Given the description of an element on the screen output the (x, y) to click on. 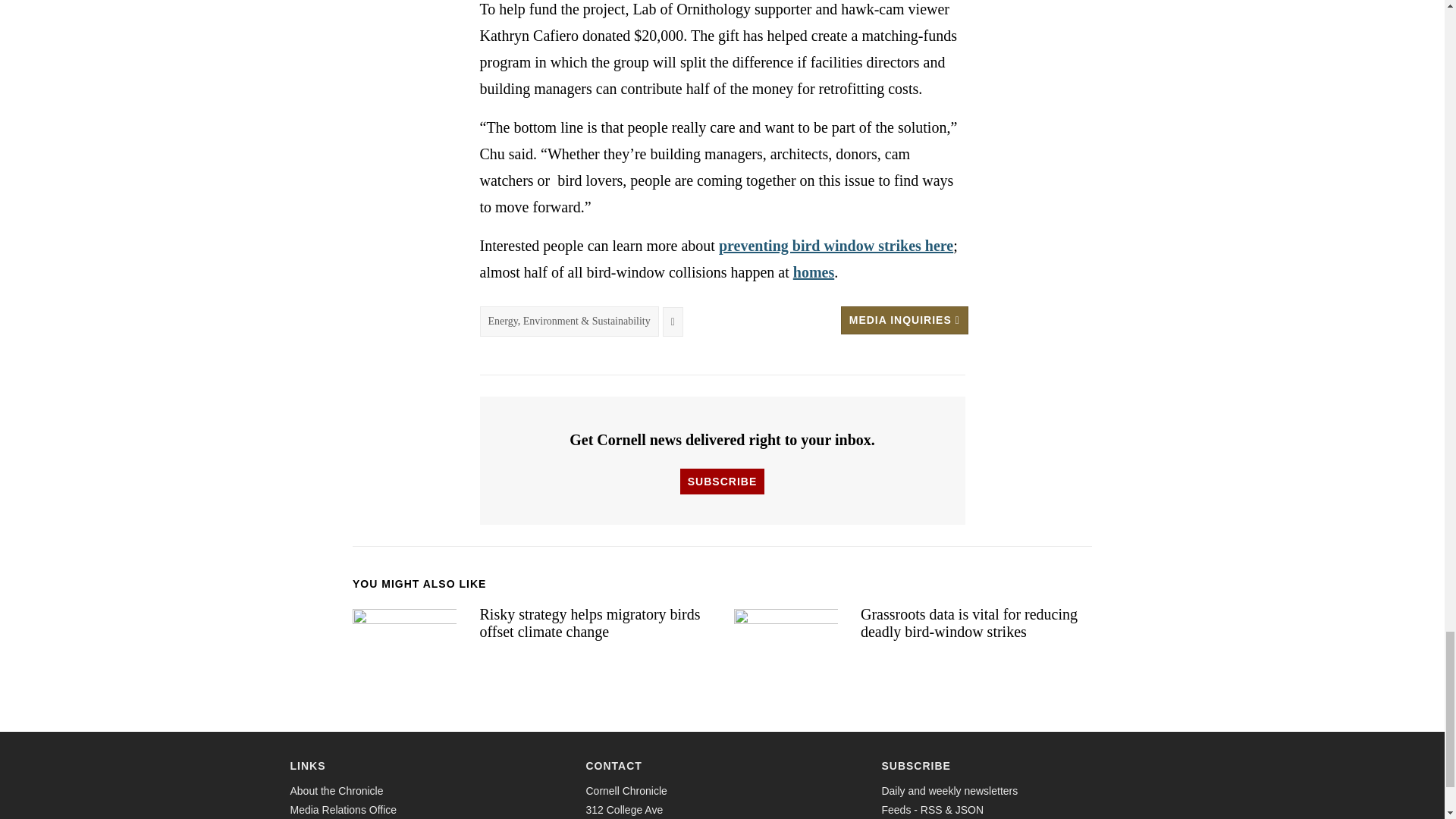
Risky strategy helps migratory birds offset climate change (404, 635)
